Given the description of an element on the screen output the (x, y) to click on. 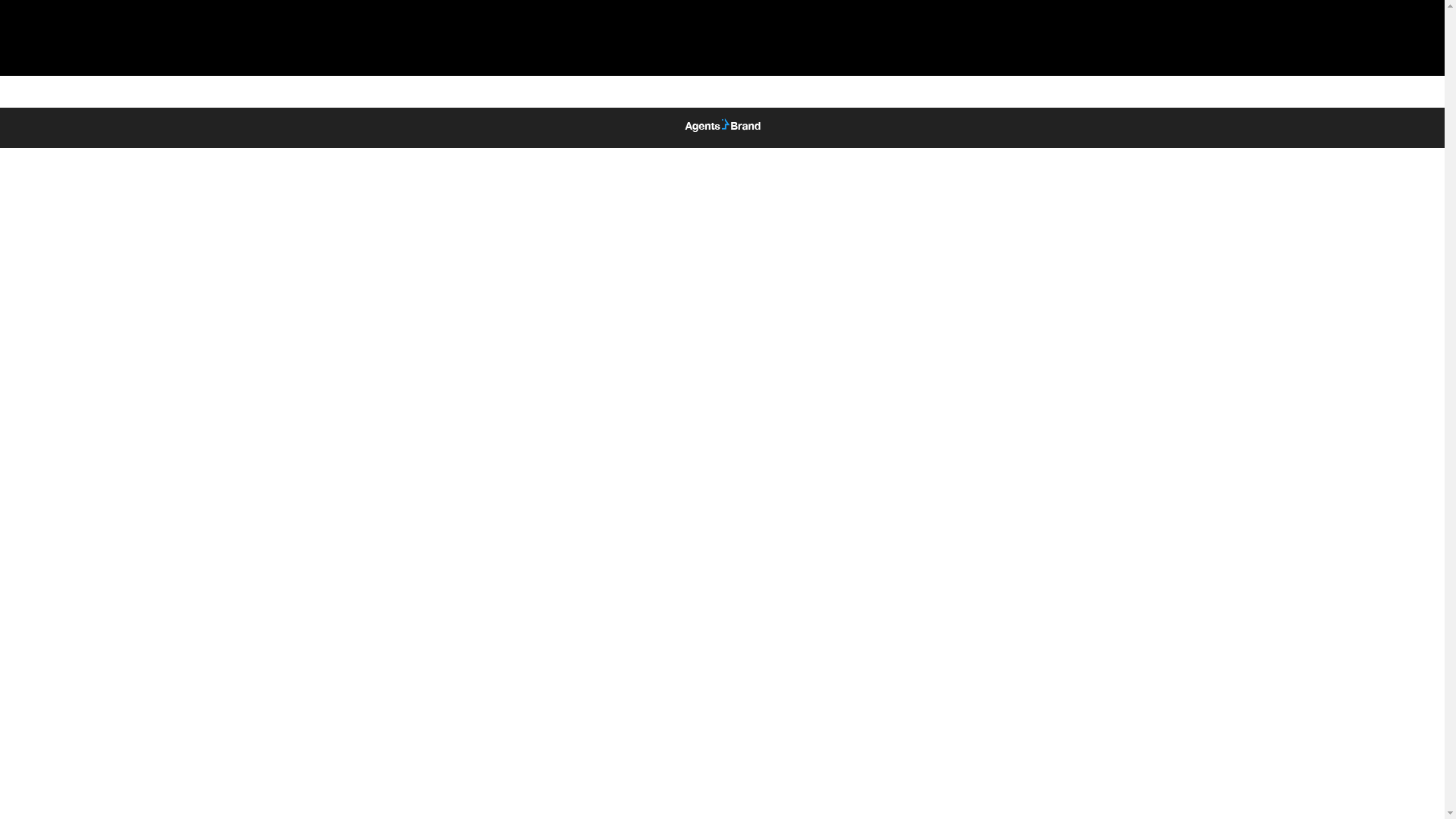
TESTIMONIALS Element type: text (857, 37)
0414 400 262 Element type: text (1079, 37)
HOME Element type: text (663, 37)
LISTINGS Element type: text (968, 37)
ABOUT JEFF Element type: text (747, 37)
